Given the description of an element on the screen output the (x, y) to click on. 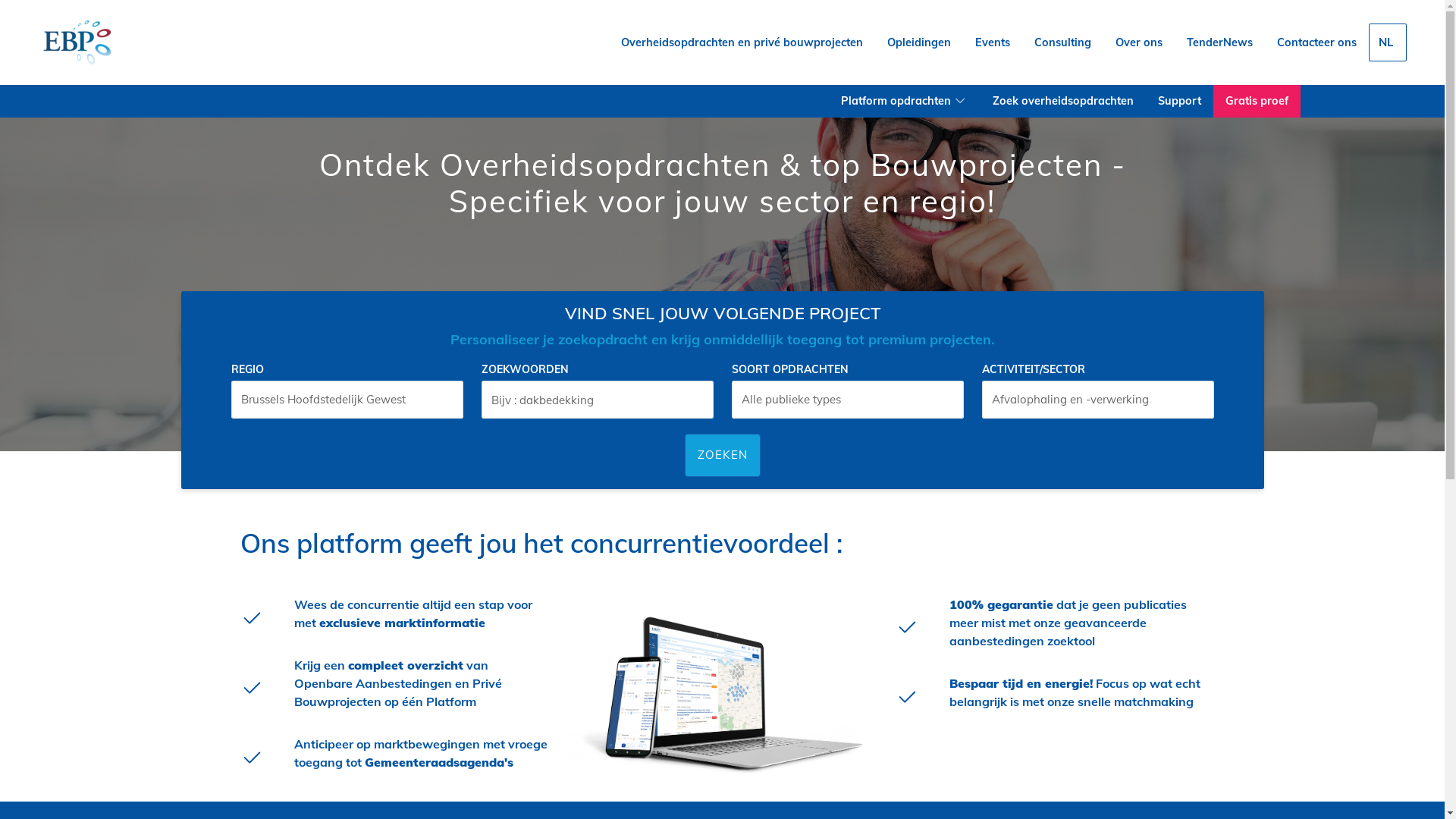
Contacteer ons Element type: text (1316, 41)
ZOEKEN Element type: text (721, 454)
Over ons Element type: text (1138, 41)
Gratis proef Element type: text (1256, 100)
Opleidingen Element type: text (919, 41)
Support Element type: text (1179, 100)
Consulting Element type: text (1062, 41)
TenderNews Element type: text (1219, 41)
Platform opdrachten Element type: text (904, 100)
Events Element type: text (992, 41)
Zoek overheidsopdrachten Element type: text (1062, 100)
